Given the description of an element on the screen output the (x, y) to click on. 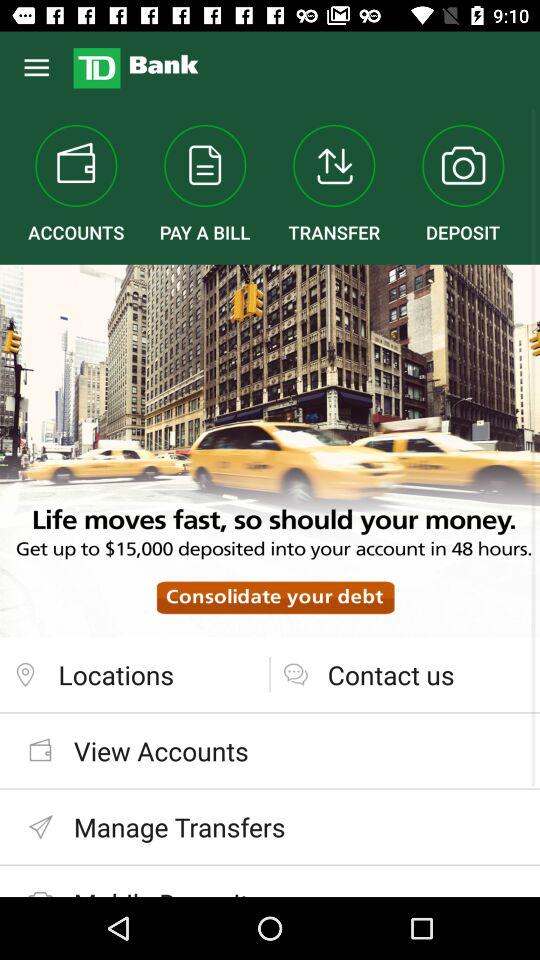
flip to view accounts item (270, 750)
